Given the description of an element on the screen output the (x, y) to click on. 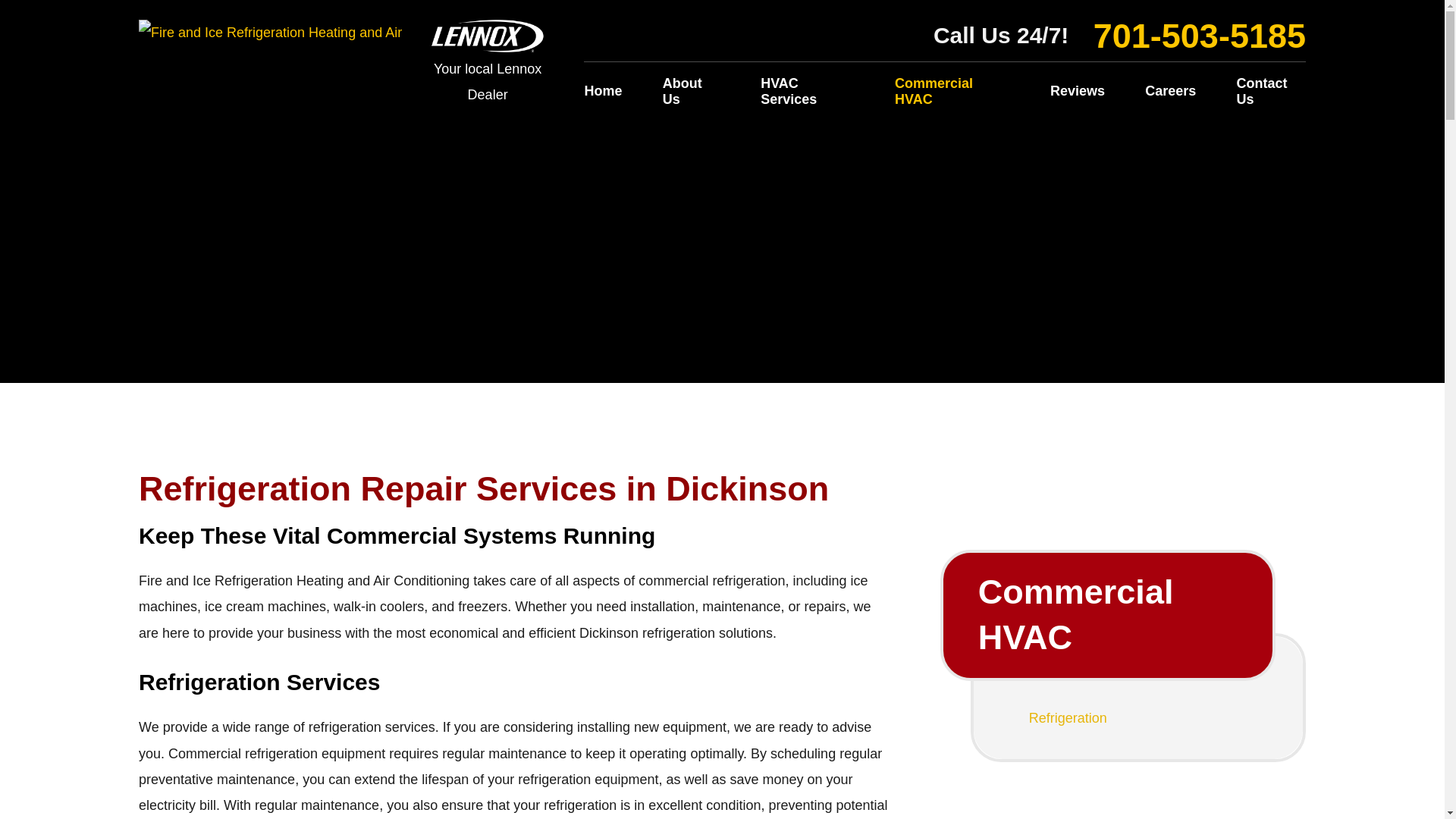
Reviews (1077, 92)
Fire and Ice Refrigeration Heating and Air (269, 32)
Home (611, 92)
Commercial HVAC (952, 92)
Refrigeration (1138, 718)
701-503-5185 (1199, 35)
Contact Us (1262, 92)
HVAC Services (807, 92)
Open the accessibility options menu (31, 786)
About Us (691, 92)
Careers (1169, 92)
Commercial HVAC (1107, 614)
